Given the description of an element on the screen output the (x, y) to click on. 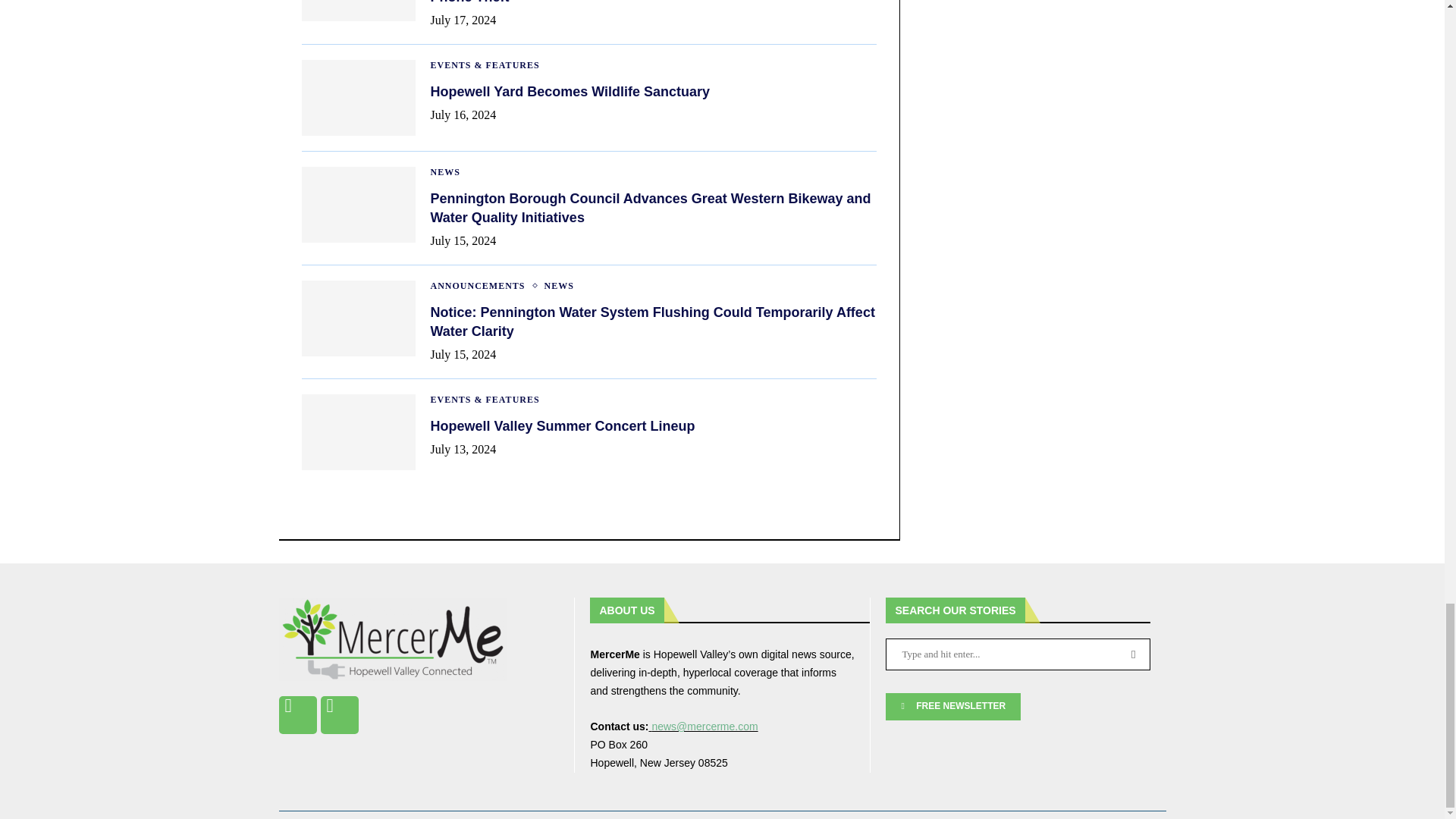
Hopewell Yard Becomes Wildlife Sanctuary (357, 97)
Hopewell Valley Summer Concert Lineup (357, 431)
